Given the description of an element on the screen output the (x, y) to click on. 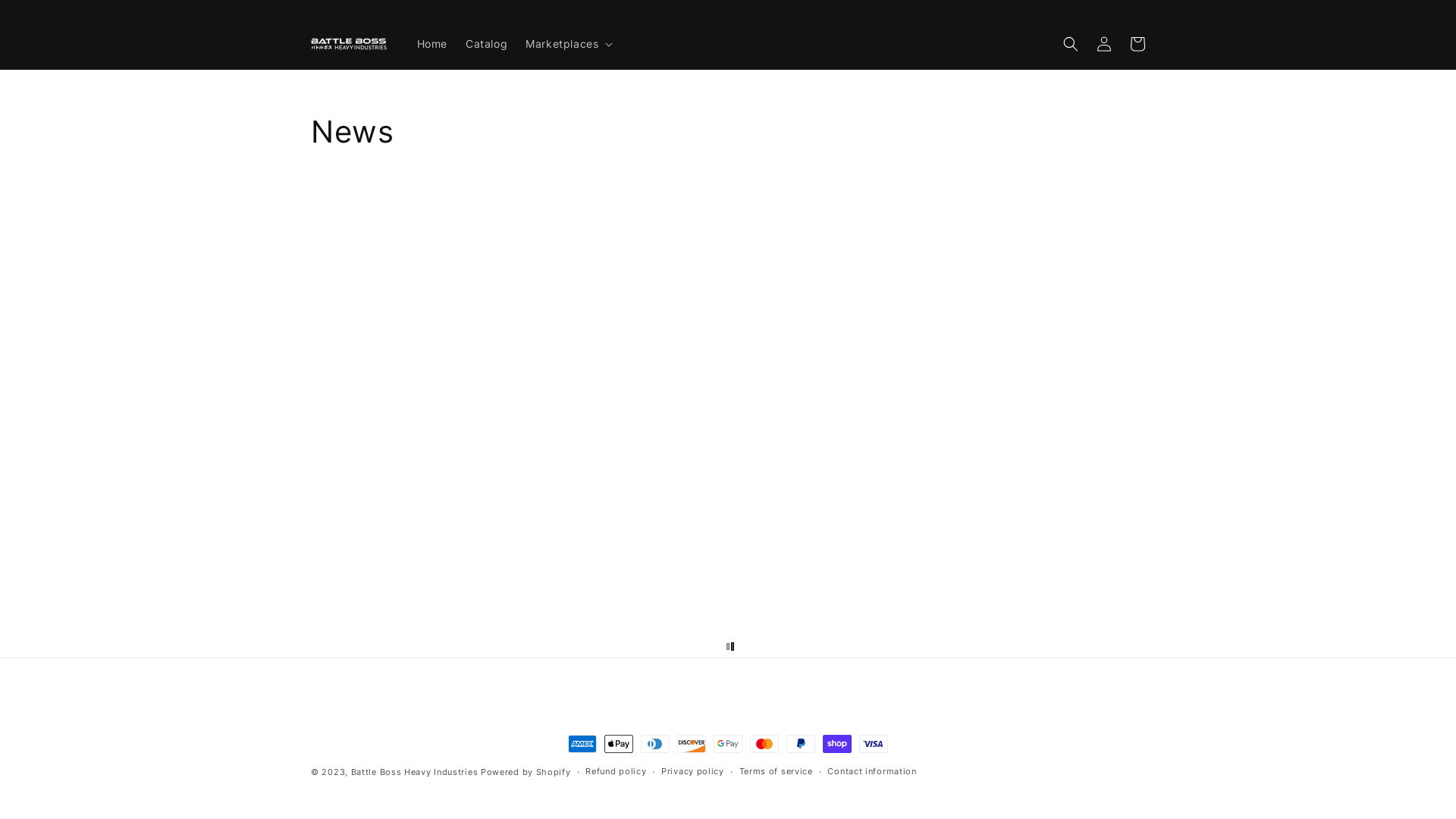
Home Element type: text (431, 43)
Privacy policy Element type: text (692, 771)
Battle Boss Heavy Industries Element type: text (414, 771)
Powered by Shopify Element type: text (525, 771)
Log in Element type: text (1103, 43)
Cart Element type: text (1137, 43)
Refund policy Element type: text (615, 771)
Terms of service Element type: text (775, 771)
Catalog Element type: text (486, 43)
Contact information Element type: text (871, 771)
